Given the description of an element on the screen output the (x, y) to click on. 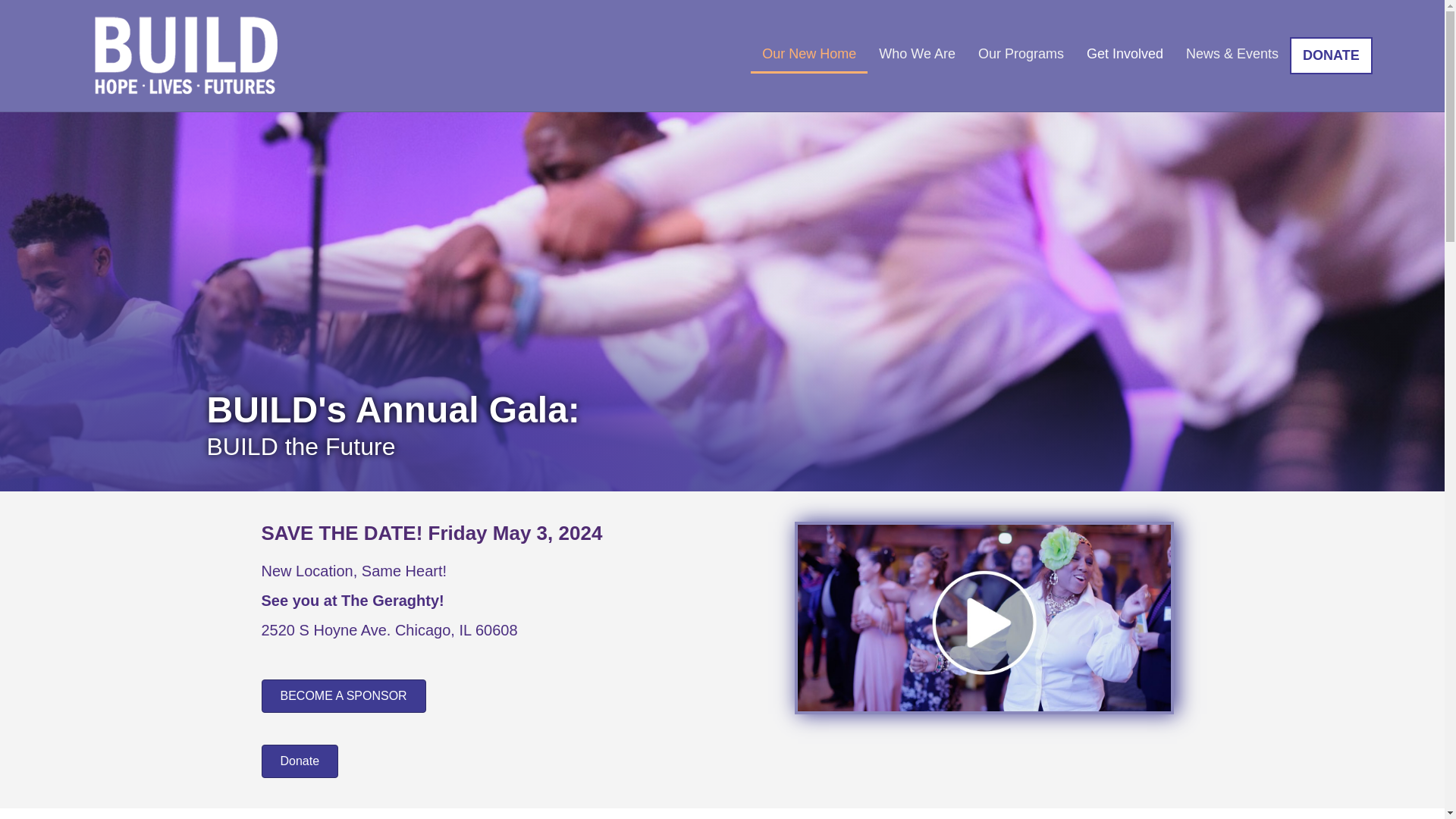
Donate (298, 761)
maxresdefault (983, 617)
BECOME A SPONSOR (342, 695)
Our Programs (1020, 53)
Our New Home (809, 54)
DONATE (1331, 55)
Who We Are (916, 53)
Get Involved (1124, 53)
